Given the description of an element on the screen output the (x, y) to click on. 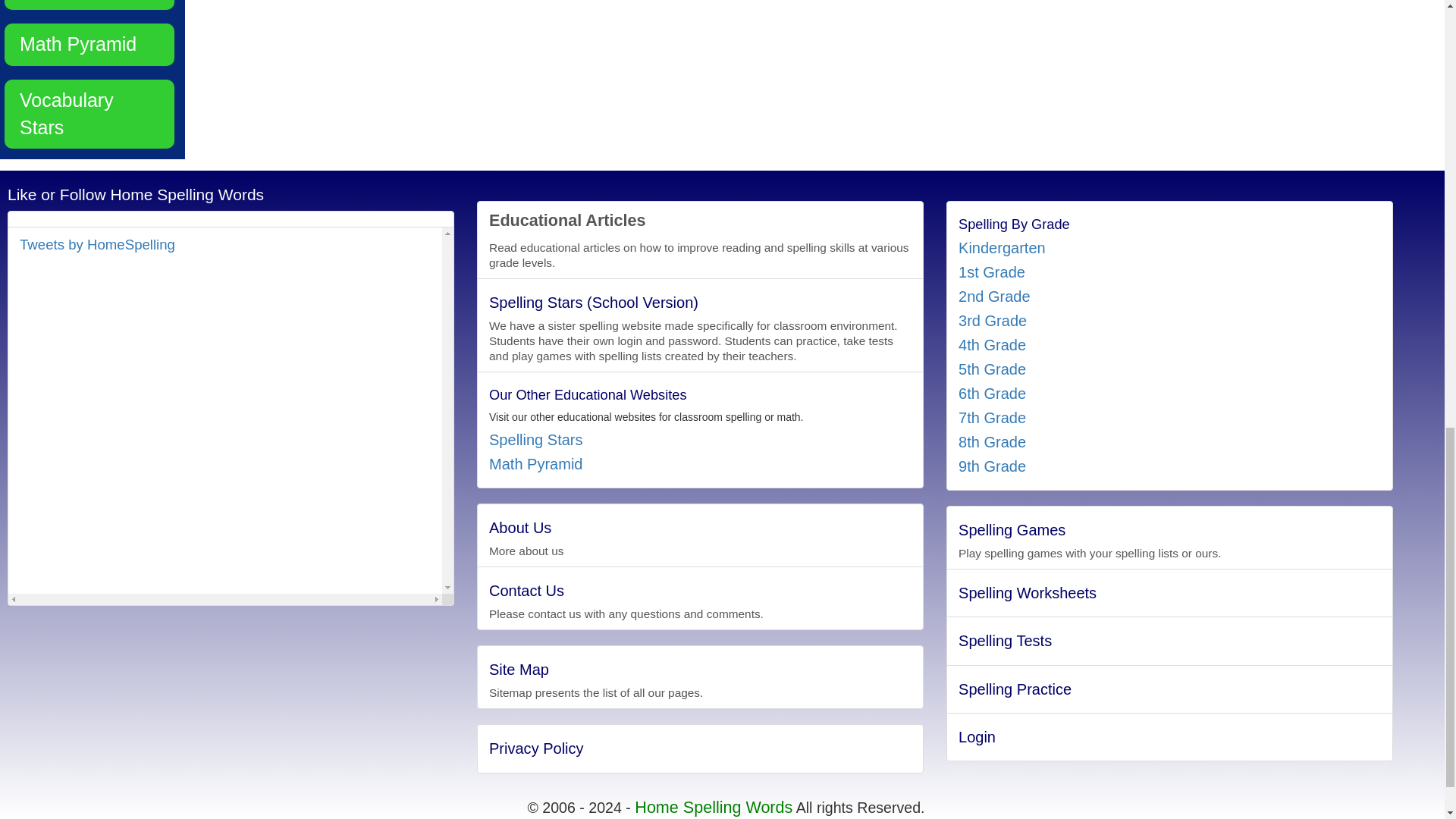
Spelling Stars (89, 4)
Math Pyramid (89, 44)
Spelling for class environment (89, 4)
Vocabulary Stars (89, 113)
Contact Home Spelling Words (713, 806)
